Given the description of an element on the screen output the (x, y) to click on. 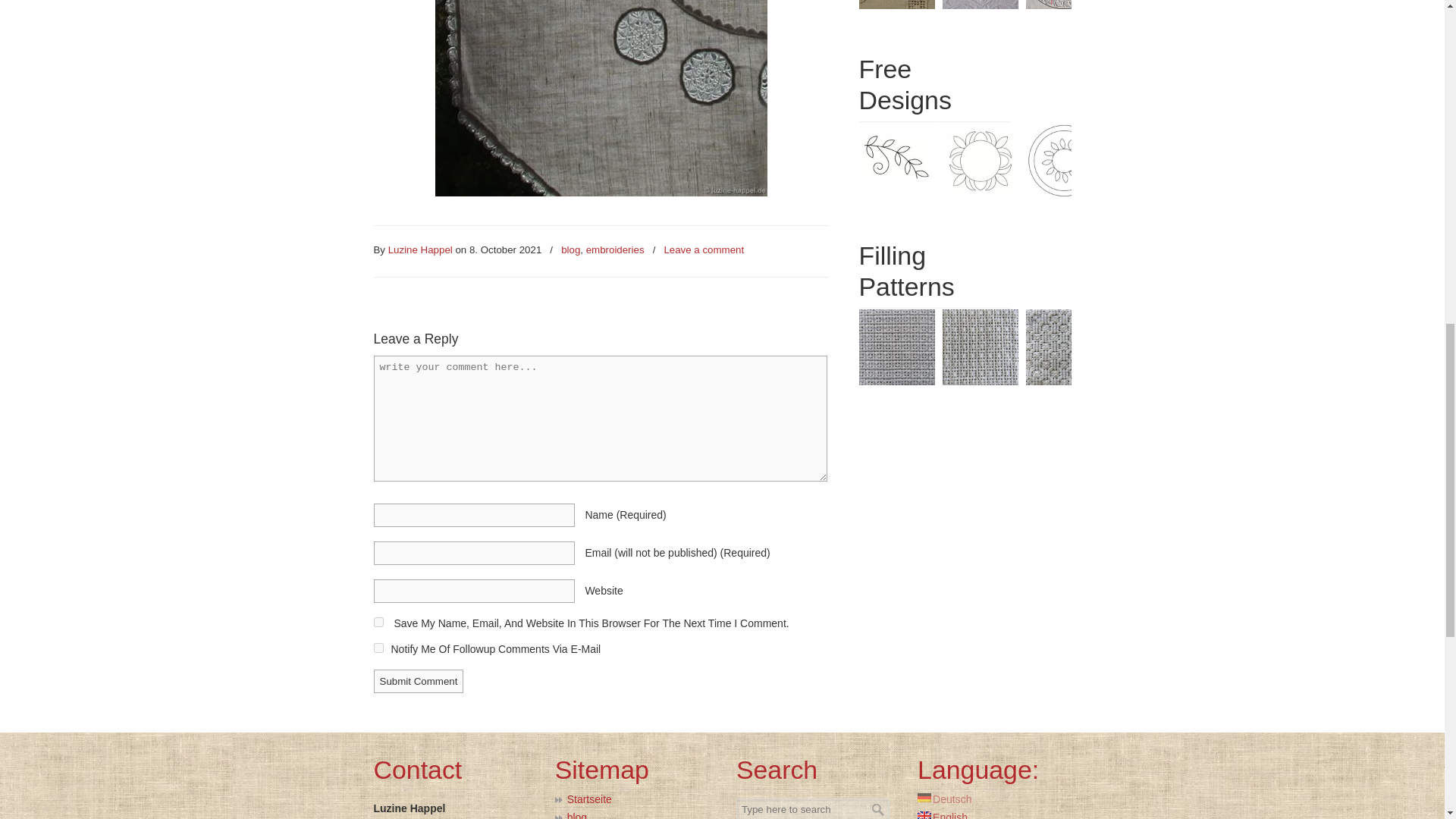
Posts by Luzine Happel (420, 250)
Submit Comment (417, 680)
yes (377, 622)
blog (569, 250)
embroideries (615, 250)
subscribe (377, 647)
Leave a comment (703, 250)
Submit Comment (417, 680)
Luzine Happel (420, 250)
